Given the description of an element on the screen output the (x, y) to click on. 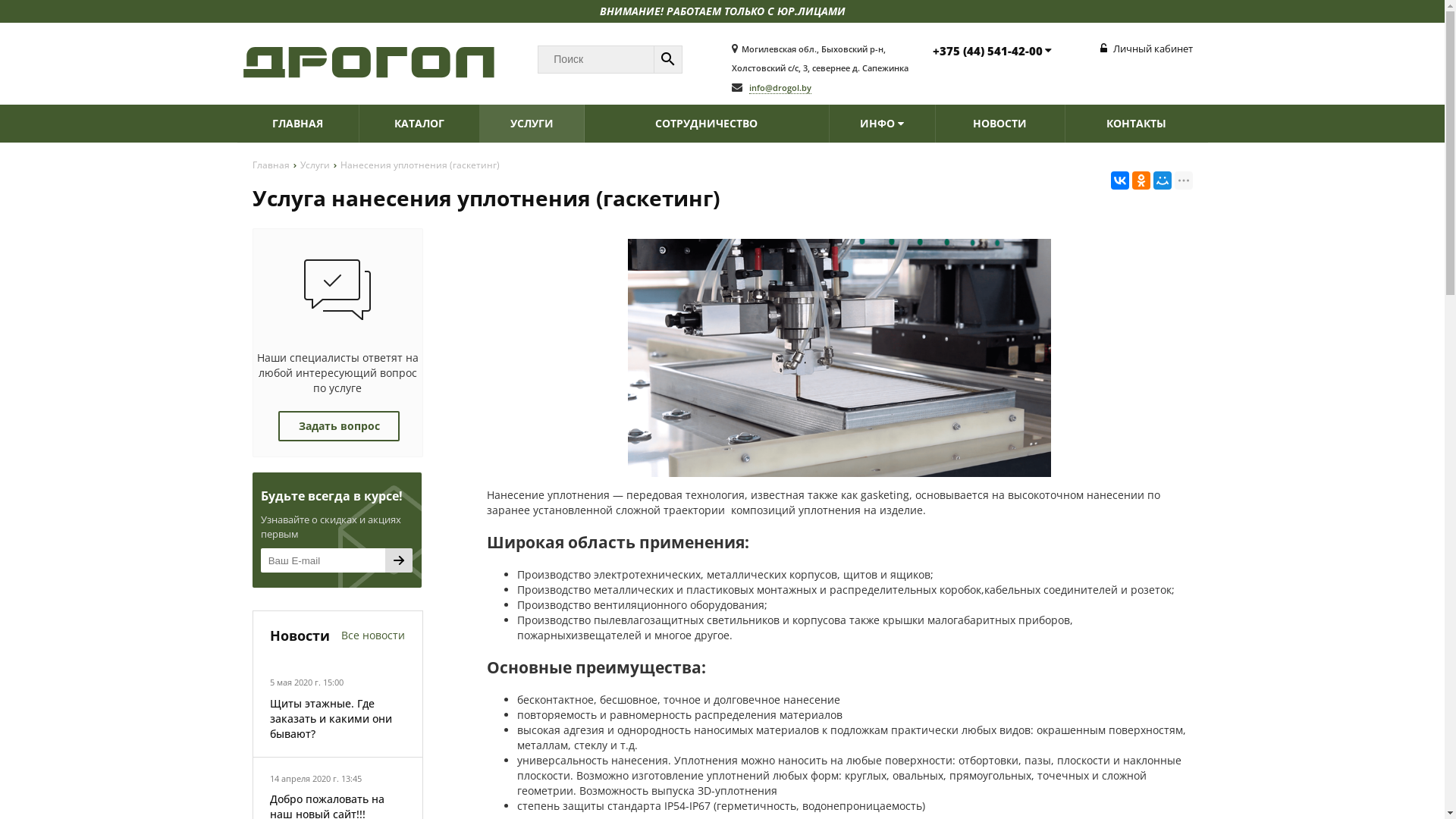
info@drogol.by Element type: text (780, 87)
search Element type: text (667, 59)
